Given the description of an element on the screen output the (x, y) to click on. 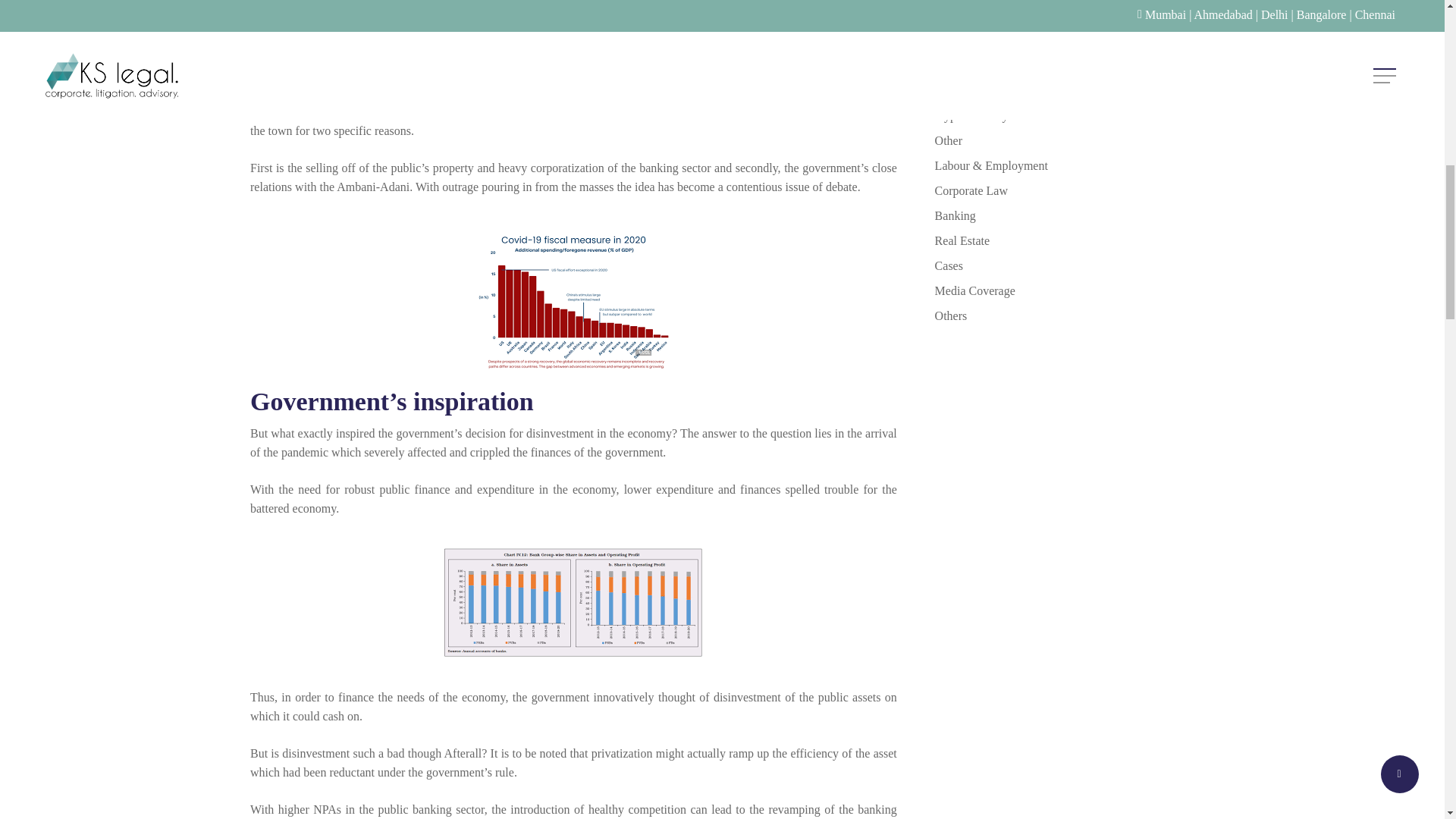
Real Estate (1063, 240)
cryptocurrency (1063, 115)
inspiration (473, 401)
Media Coverage (1063, 290)
Economy (1063, 15)
Banking (1063, 215)
Cases (1063, 265)
Corporate Law (1063, 189)
UBI (1063, 65)
arbitrator (1063, 40)
